Given the description of an element on the screen output the (x, y) to click on. 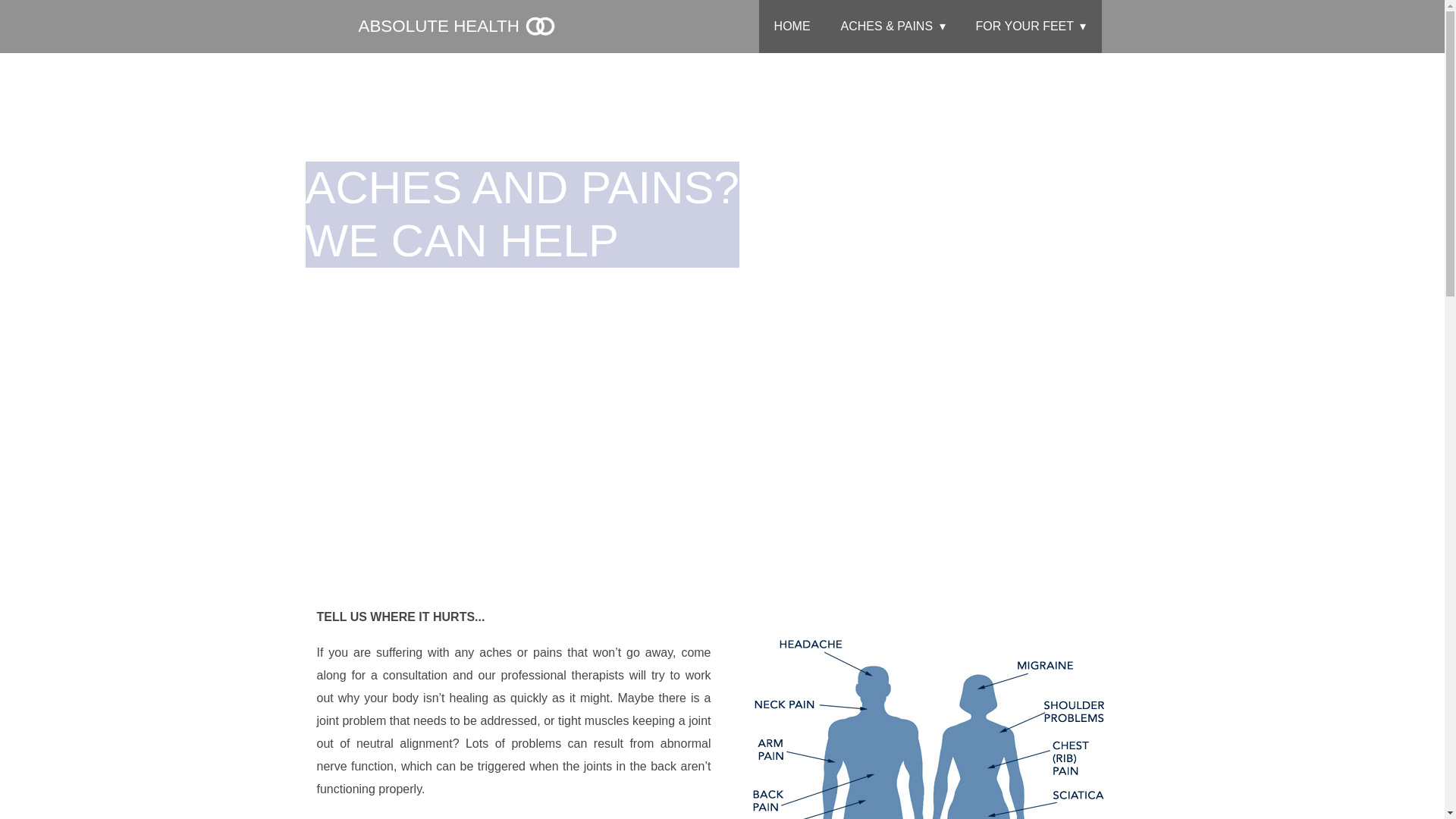
ABSOLUTE HEALTH (457, 26)
FOR YOUR FEET (1031, 26)
Aches and pains (923, 712)
HOME (791, 26)
